Given the description of an element on the screen output the (x, y) to click on. 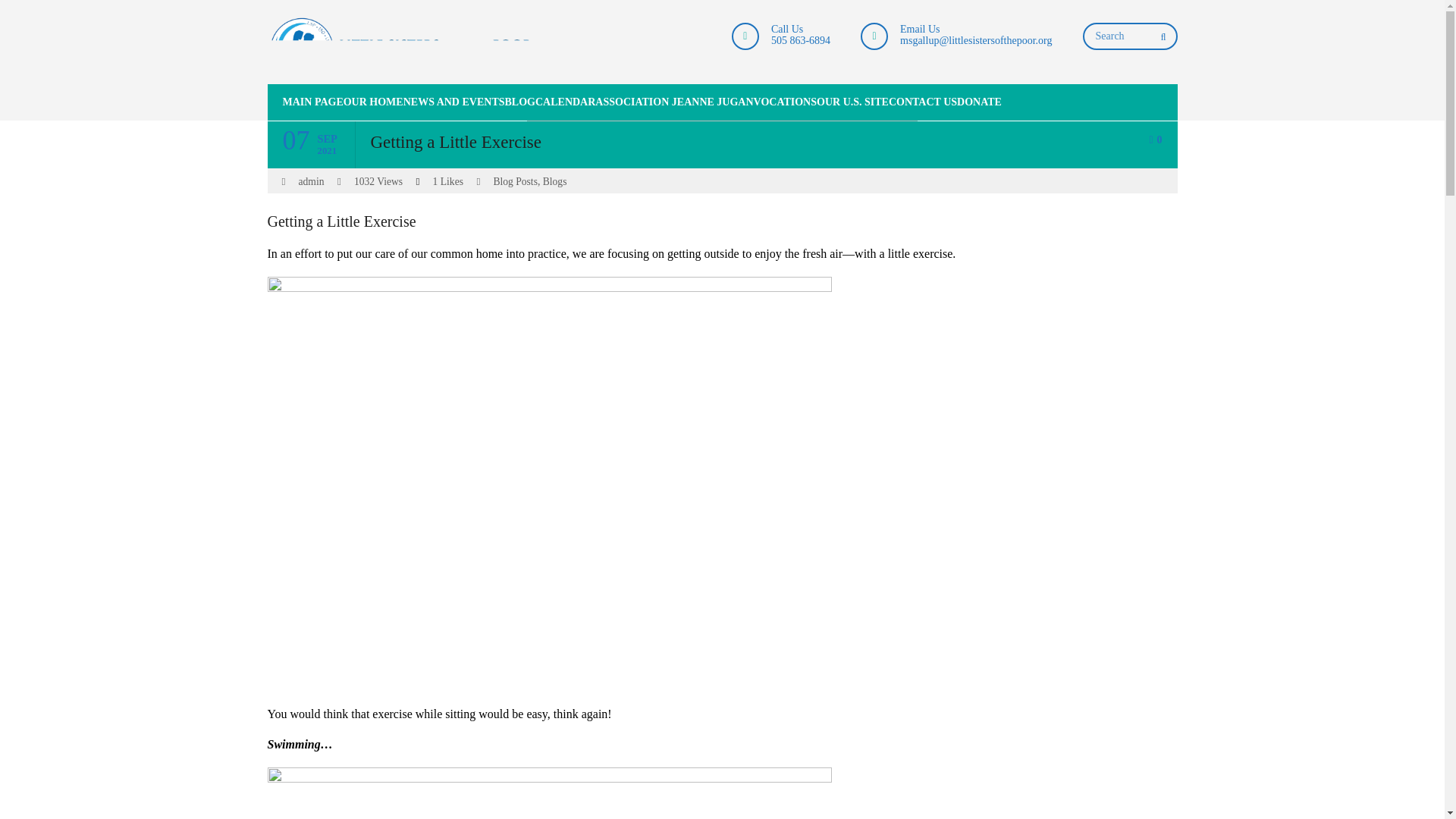
OUR HOME (373, 102)
MAIN PAGE (304, 102)
DONATE (978, 102)
0 (1154, 139)
View all posts in Blogs (555, 182)
Little Sisters of the Poor Gallup (401, 49)
Blogs (555, 182)
CONTACT US (922, 102)
admin (311, 182)
View all posts in Blog Posts (515, 182)
